Given the description of an element on the screen output the (x, y) to click on. 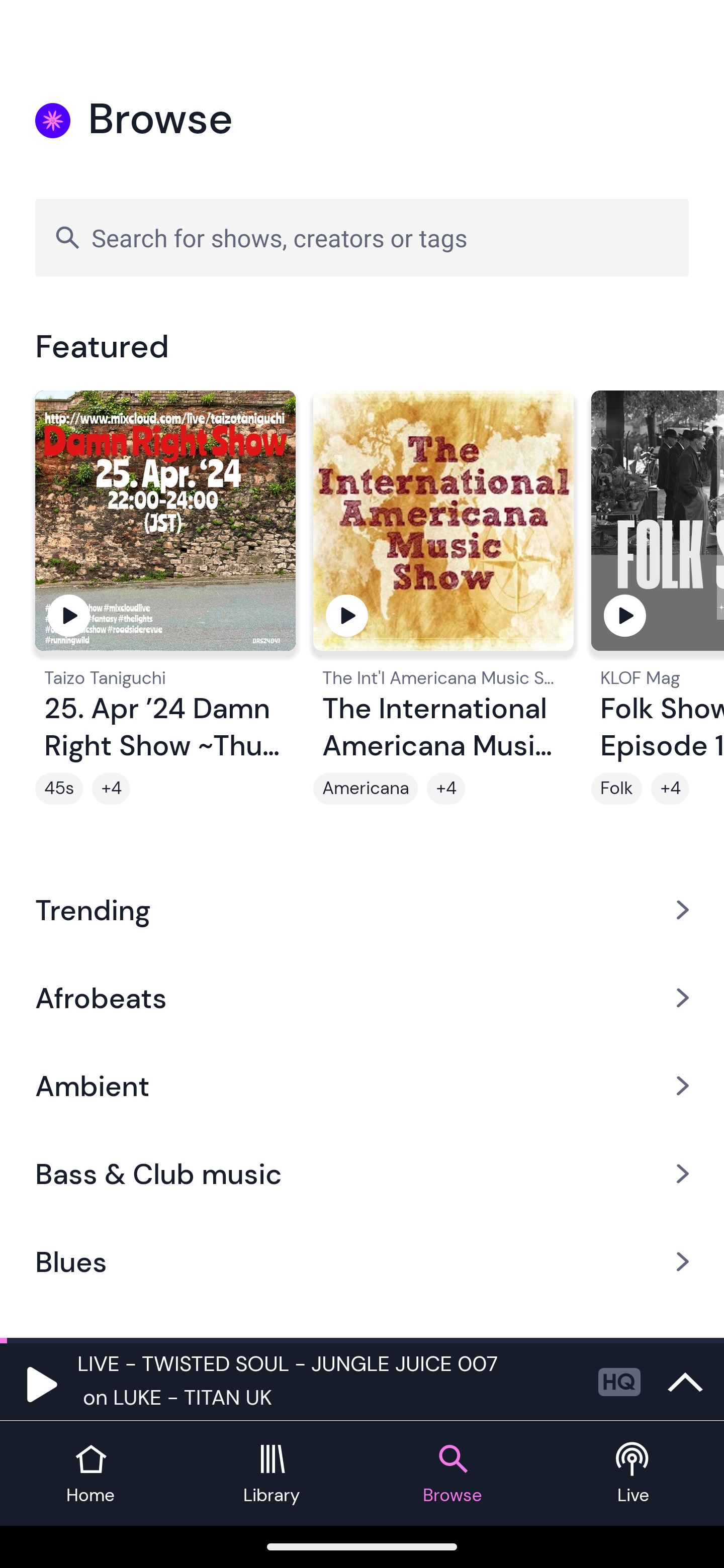
Search for shows, creators or tags (361, 237)
45s (59, 788)
Americana (365, 788)
Folk (616, 788)
Trending (361, 909)
Afrobeats (361, 997)
Ambient (361, 1085)
Bass & Club music (361, 1174)
Blues (361, 1262)
Home tab Home (90, 1473)
Library tab Library (271, 1473)
Browse tab Browse (452, 1473)
Live tab Live (633, 1473)
